Given the description of an element on the screen output the (x, y) to click on. 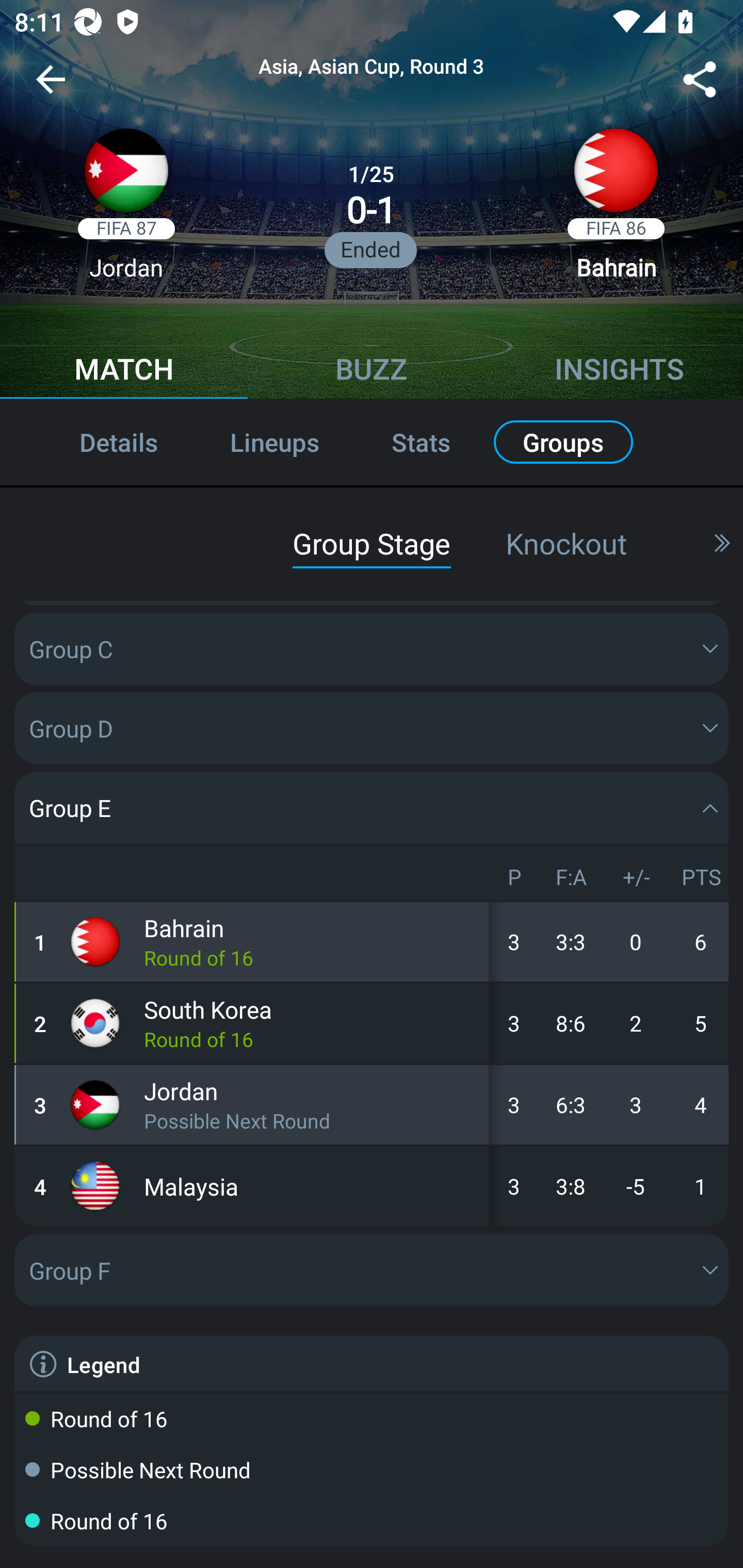
Navigate up (50, 86)
Asia, Asian Cup, Round 3 (371, 66)
Share (699, 82)
FIFA 87 Jordan (126, 210)
FIFA 86 Bahrain (616, 210)
MATCH (123, 371)
BUZZ (371, 371)
INSIGHTS (619, 371)
Details (96, 442)
Lineups (274, 442)
Stats (420, 442)
Knockout (566, 543)
Group B (371, 569)
Group C (371, 649)
Group D (371, 728)
Group E (371, 807)
1 Bahrain Round of 16 3 3:3 0 6 (371, 941)
Bahrain Round of 16 (312, 941)
2 South Korea Round of 16 3 8:6 2 5 (371, 1023)
South Korea Round of 16 (312, 1023)
3 Jordan Possible Next Round 3 6:3 3 4 (371, 1104)
Jordan Possible Next Round (312, 1104)
4 Malaysia 3 3:8 -5 1 (371, 1186)
Malaysia (312, 1186)
Group F (371, 1270)
